Given the description of an element on the screen output the (x, y) to click on. 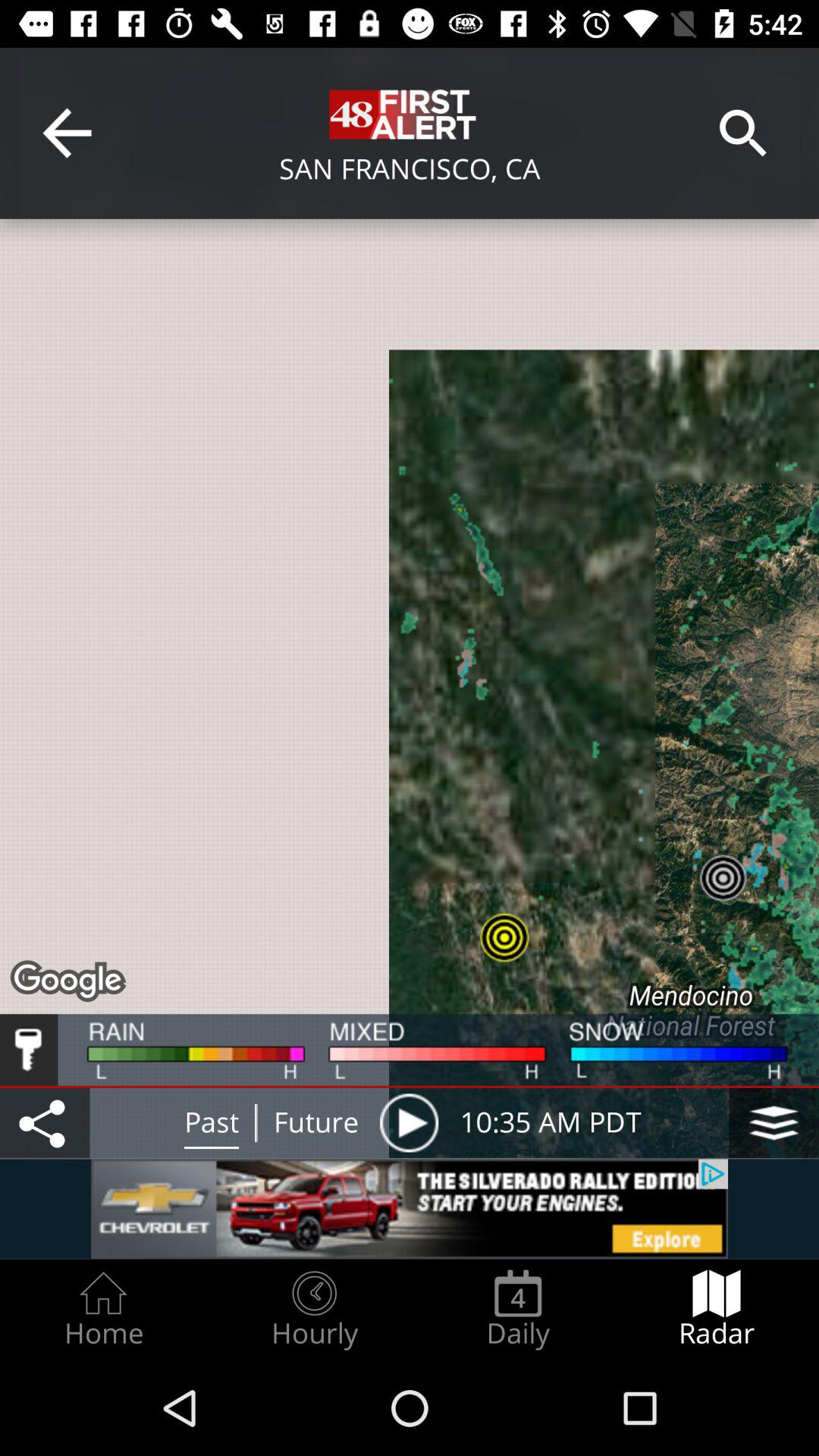
select icon to the left of the 10 35 am (409, 1122)
